Given the description of an element on the screen output the (x, y) to click on. 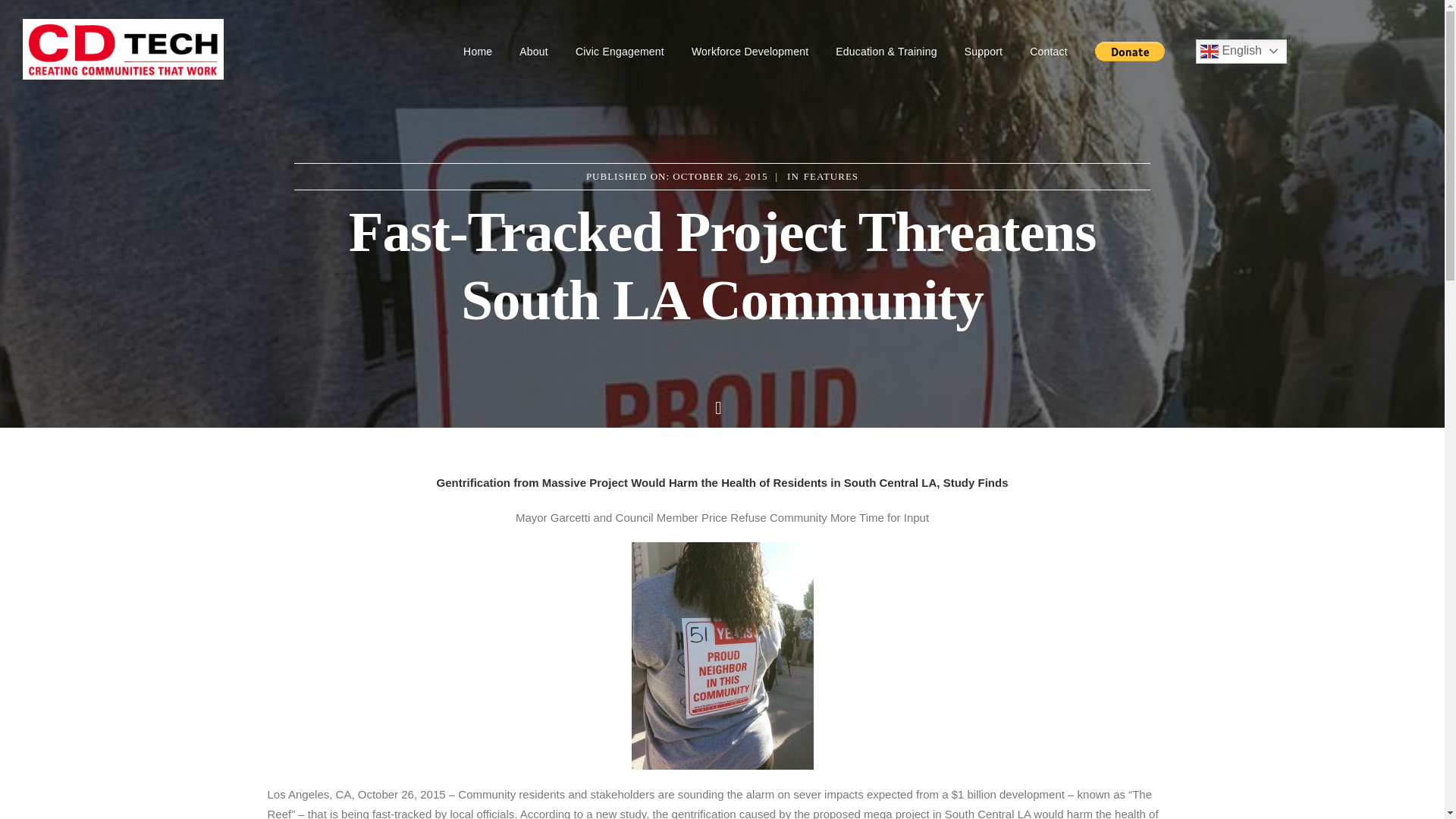
PayPal - The safer, easier way to pay online! (1129, 50)
English (1241, 51)
Workforce Development (749, 51)
